Given the description of an element on the screen output the (x, y) to click on. 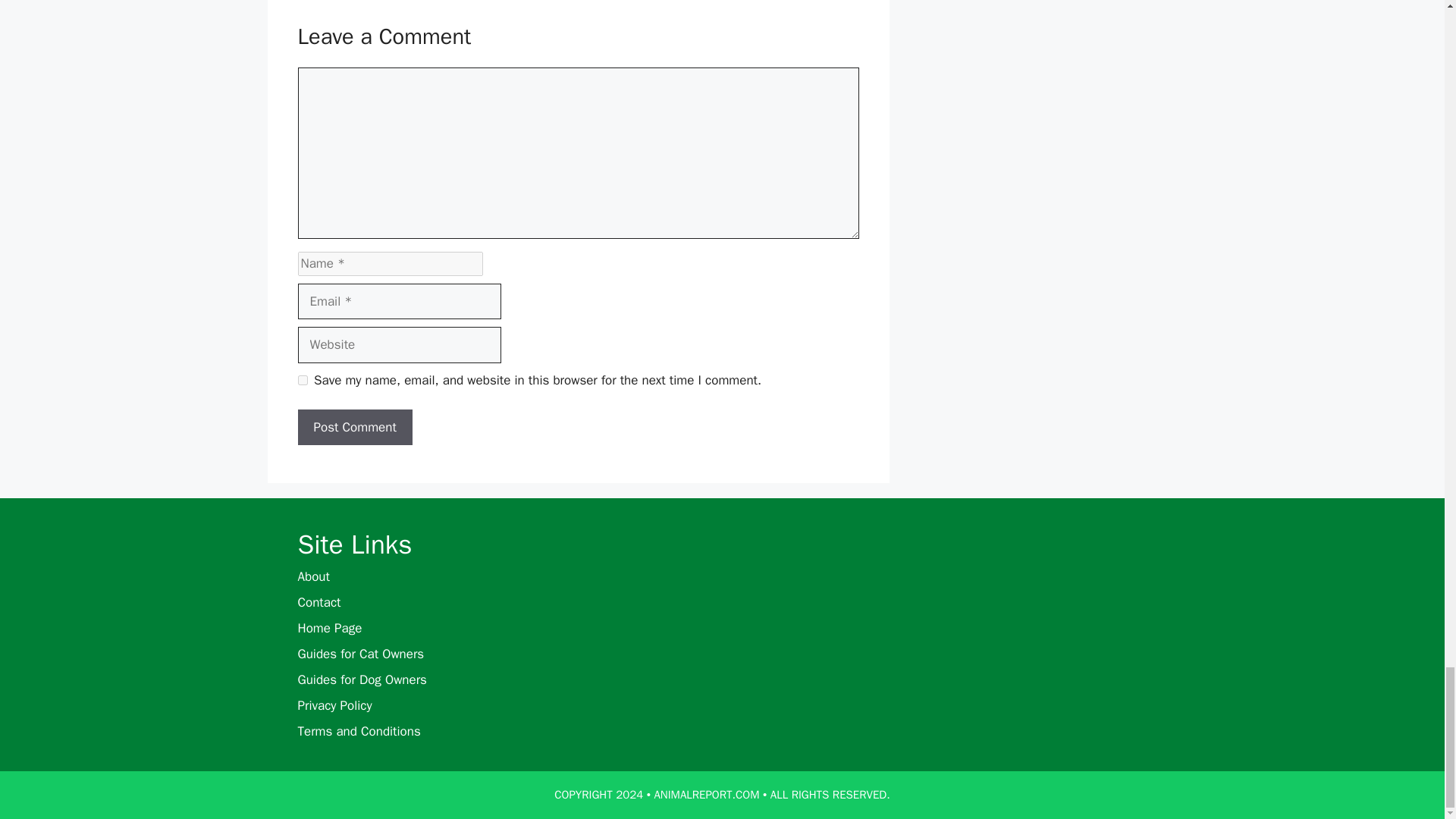
yes (302, 379)
Post Comment (354, 427)
